Given the description of an element on the screen output the (x, y) to click on. 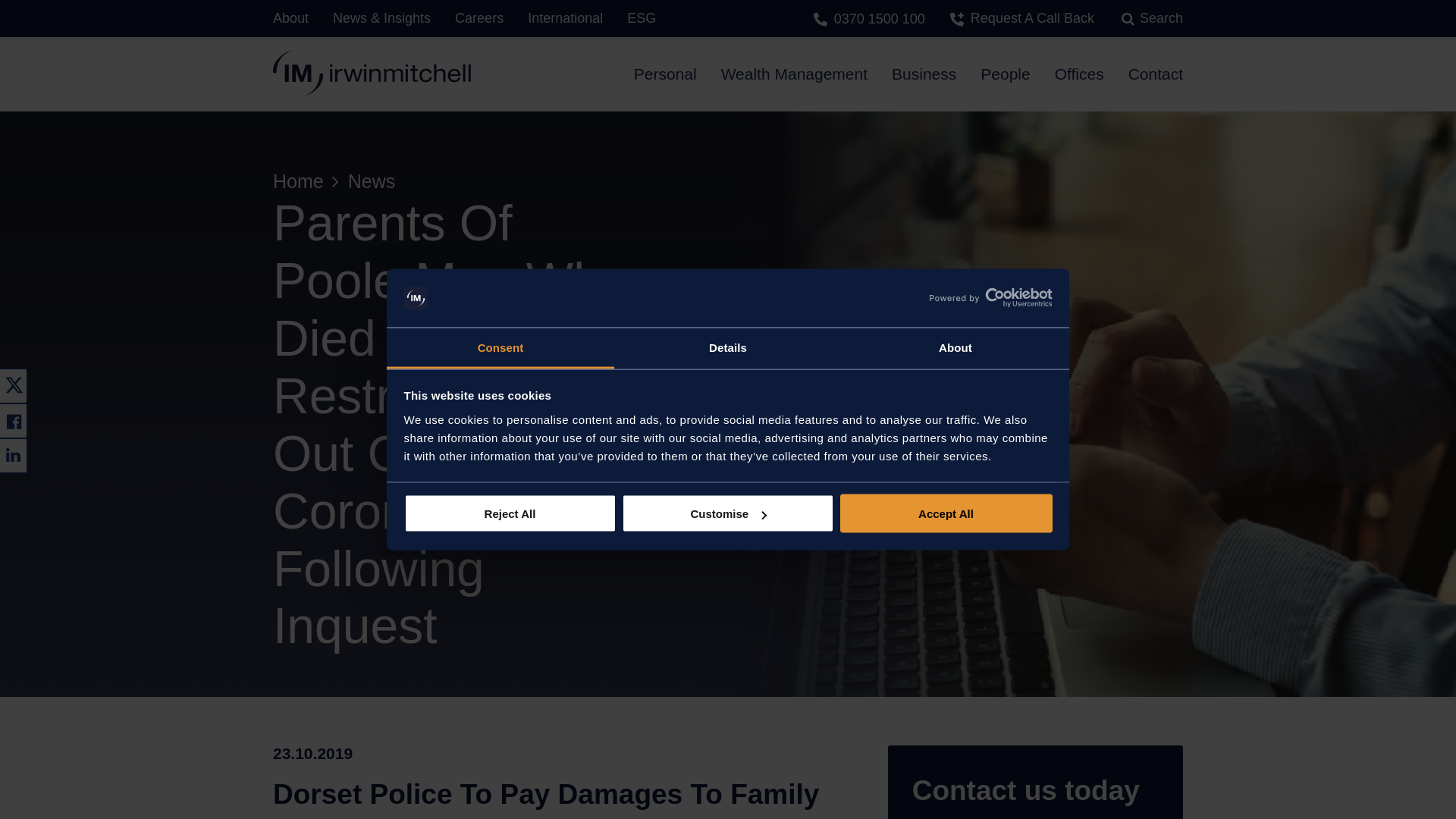
About (954, 347)
Consent (500, 347)
Details (727, 347)
